Given the description of an element on the screen output the (x, y) to click on. 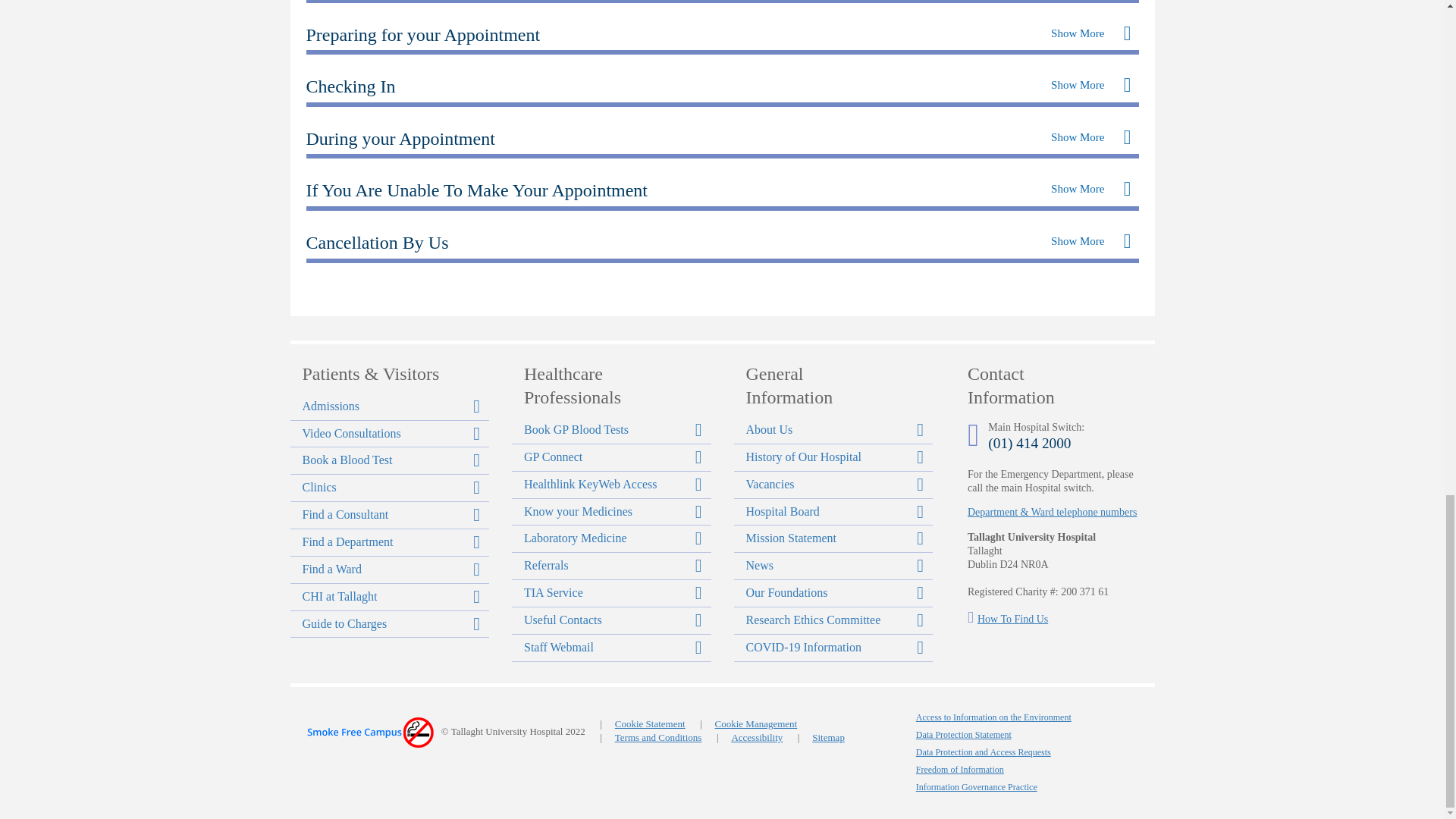
Checking In (350, 86)
Guide to Charges (389, 624)
Cancellation By Us (376, 242)
Checking In (350, 86)
During your Appointment (400, 138)
Find a Ward (389, 569)
smoke free cmapus (368, 732)
Clinics (389, 488)
Cancellation By Us (376, 242)
If You Are Unable To Make Your Appointment (476, 189)
